Given the description of an element on the screen output the (x, y) to click on. 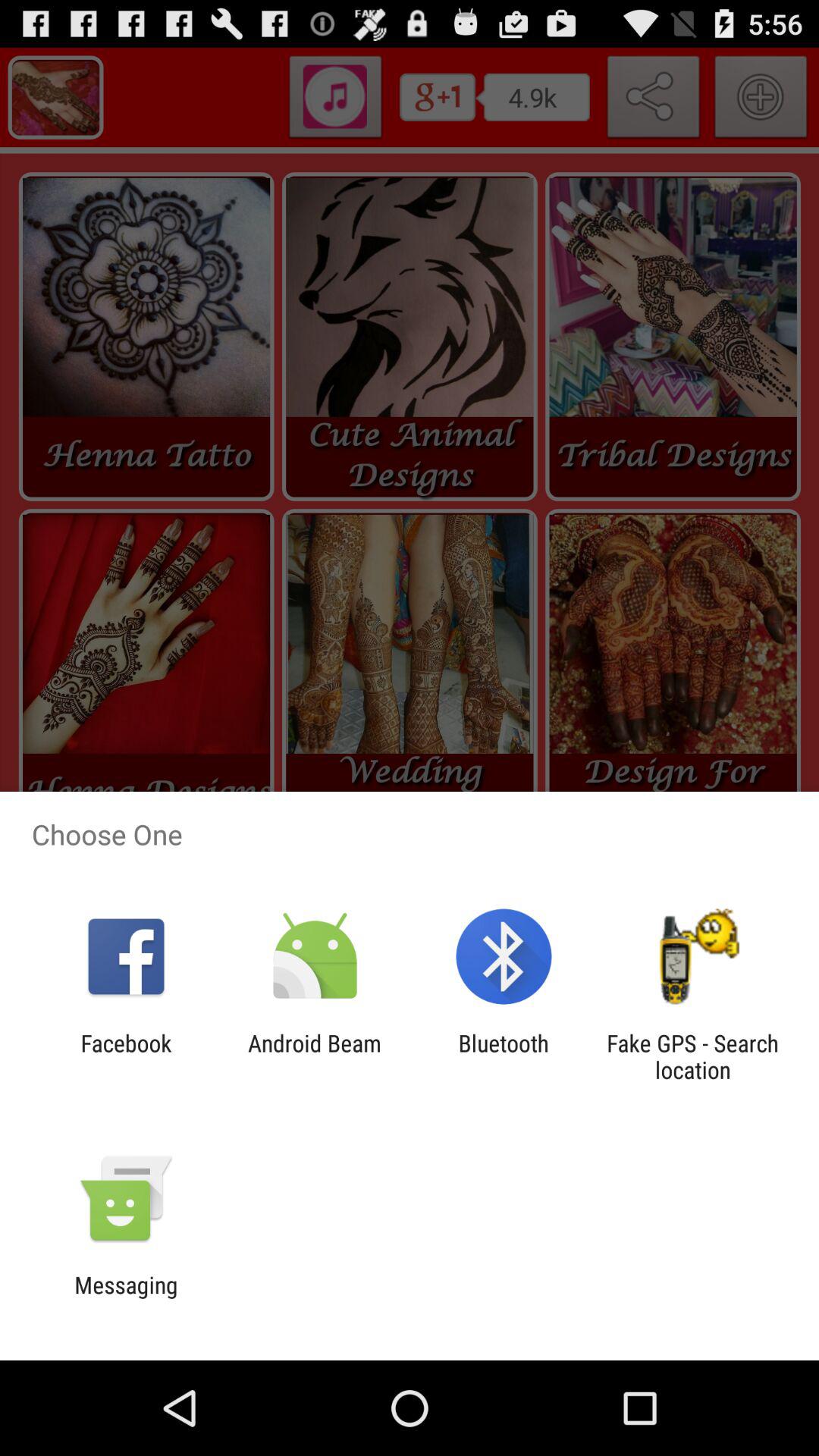
open the icon next to the bluetooth item (314, 1056)
